Given the description of an element on the screen output the (x, y) to click on. 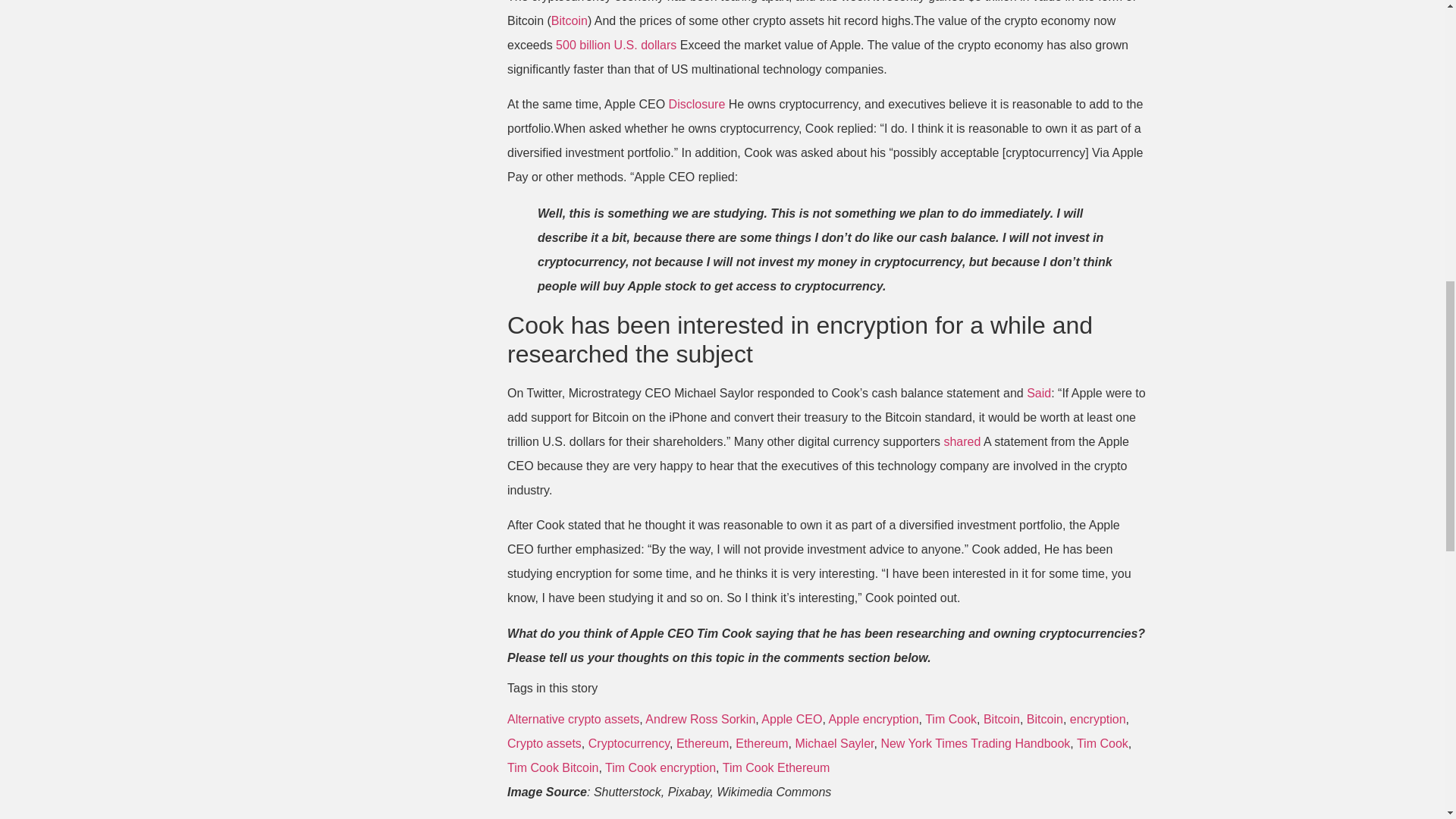
Cryptocurrency (628, 743)
500 billion U.S. dollars (616, 44)
encryption (1097, 718)
Disclosure (696, 103)
Alternative crypto assets (572, 718)
Andrew Ross Sorkin (700, 718)
Crypto assets (543, 743)
Said (1038, 392)
Bitcoin (569, 20)
Apple encryption (873, 718)
Apple CEO (791, 718)
Bitcoin (1044, 718)
shared (961, 440)
Bitcoin (1002, 718)
Tim Cook (950, 718)
